Given the description of an element on the screen output the (x, y) to click on. 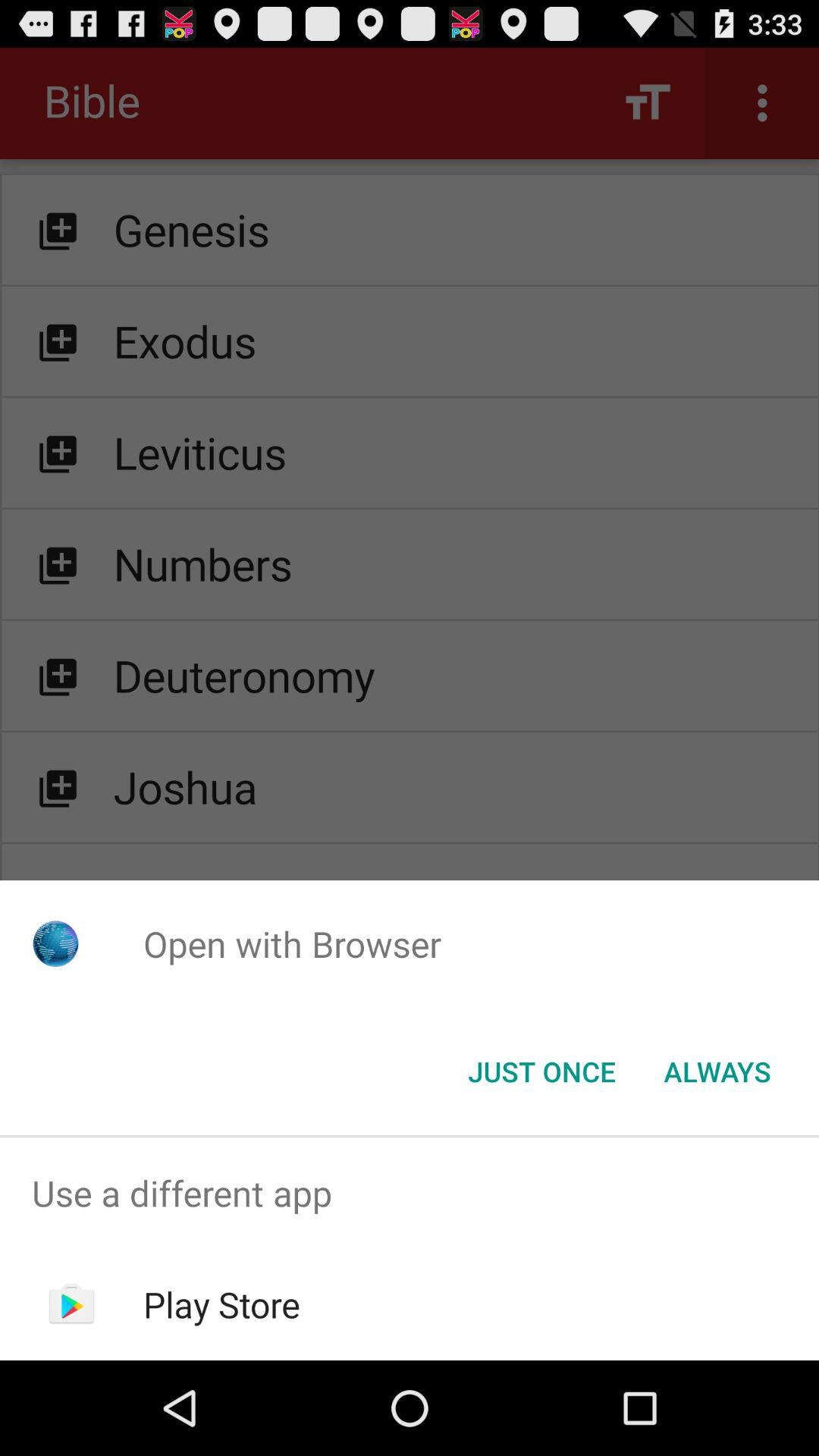
tap the always at the bottom right corner (717, 1071)
